Given the description of an element on the screen output the (x, y) to click on. 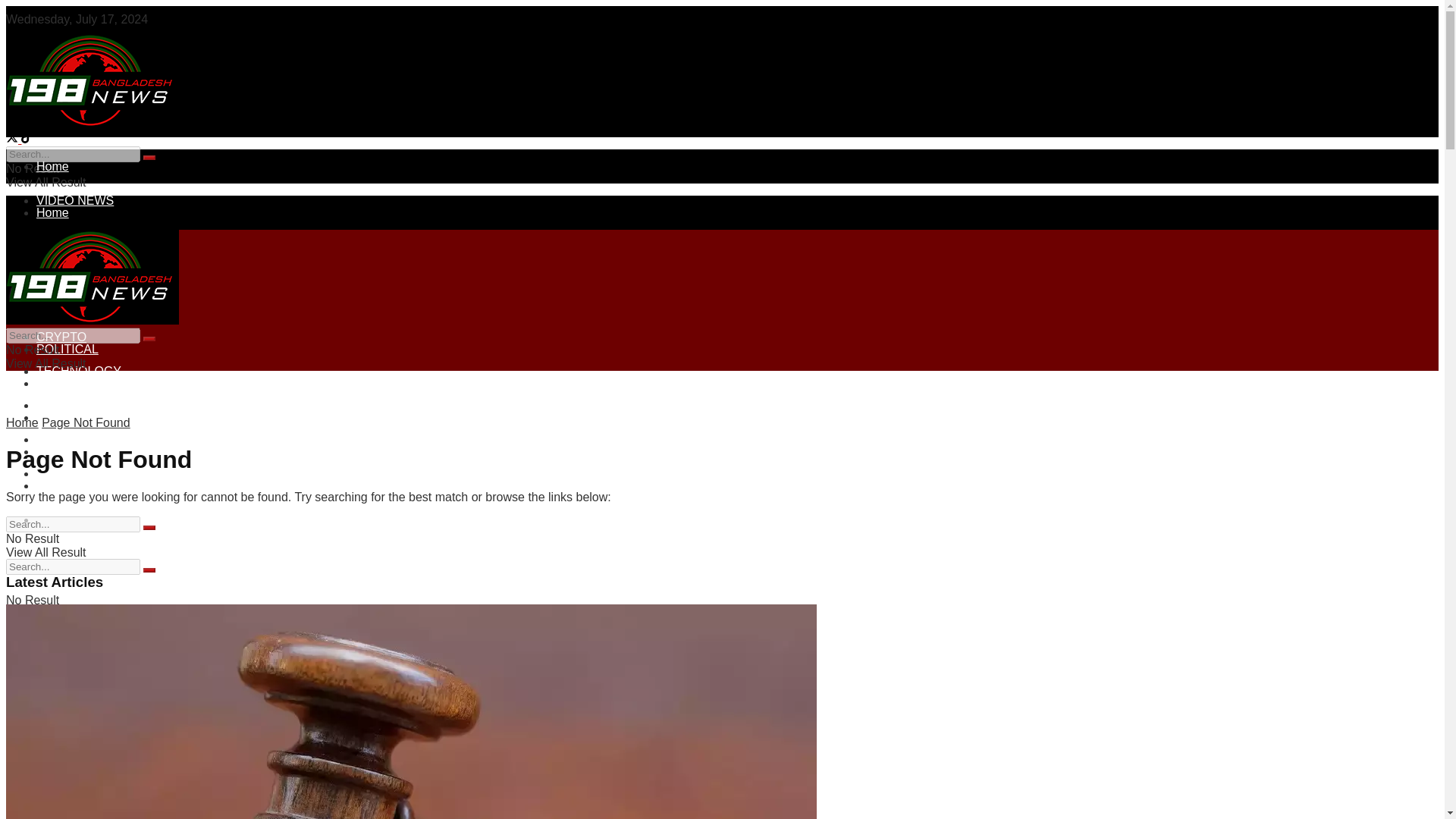
CRYPTO (60, 336)
MORE NEWS (74, 404)
BUSINESS NEWS (86, 234)
Home (52, 165)
POLITICAL (67, 302)
VIDEO NEWS (74, 200)
Login (50, 58)
FEATURED NEWS (87, 268)
TECHNOLOGY (78, 370)
